Given the description of an element on the screen output the (x, y) to click on. 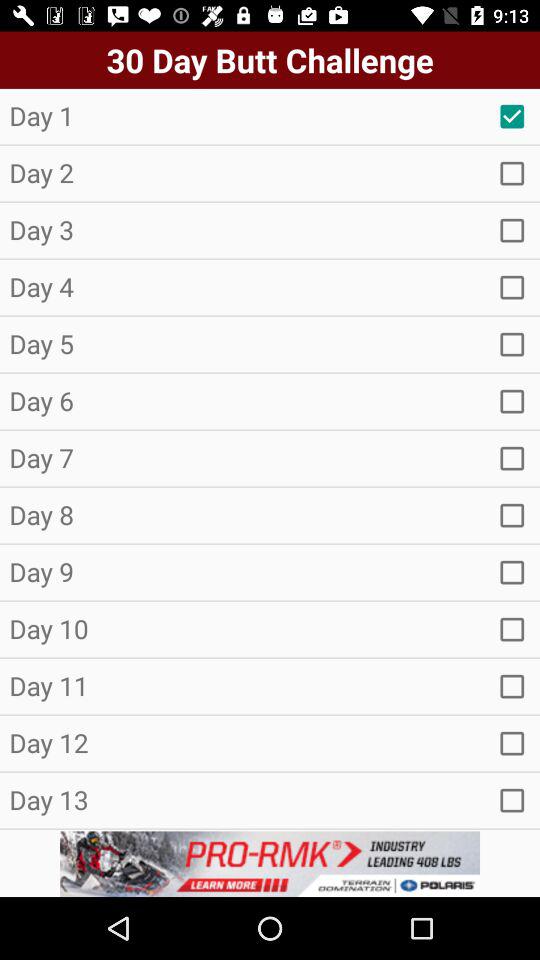
open the advertisements (270, 864)
